Given the description of an element on the screen output the (x, y) to click on. 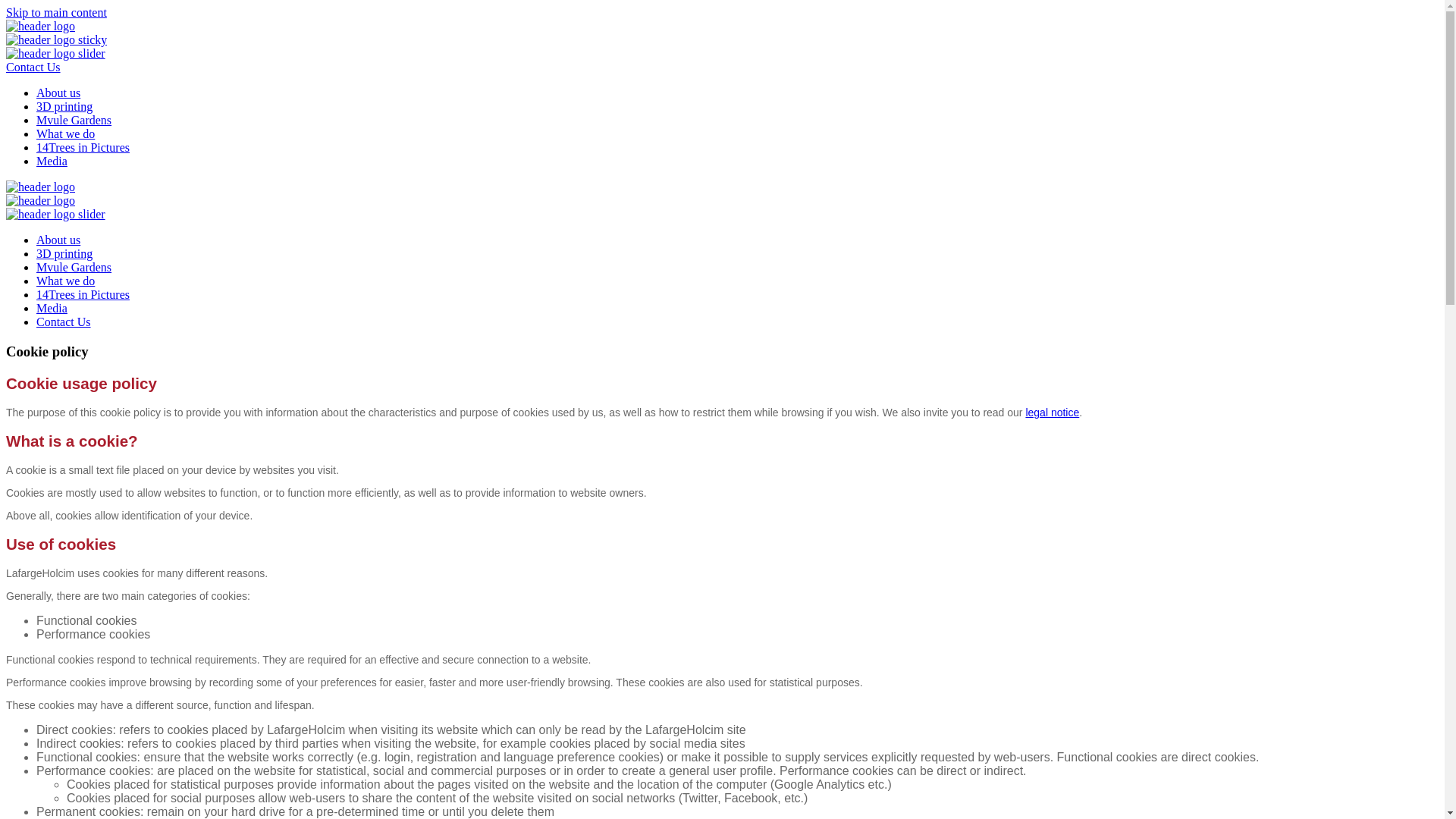
Skip to main content Element type: text (56, 12)
What we do Element type: text (65, 280)
3D printing Element type: text (64, 106)
14Trees in Pictures Element type: text (82, 147)
legal notice Element type: text (1052, 412)
3D printing Element type: text (64, 253)
About us Element type: text (58, 239)
14Trees in Pictures Element type: text (82, 294)
Mvule Gardens Element type: text (73, 119)
Mvule Gardens Element type: text (73, 266)
About us Element type: text (58, 92)
Contact Us Element type: text (63, 321)
Contact Us Element type: text (33, 66)
Media Element type: text (51, 160)
What we do Element type: text (65, 133)
Media Element type: text (51, 307)
